Given the description of an element on the screen output the (x, y) to click on. 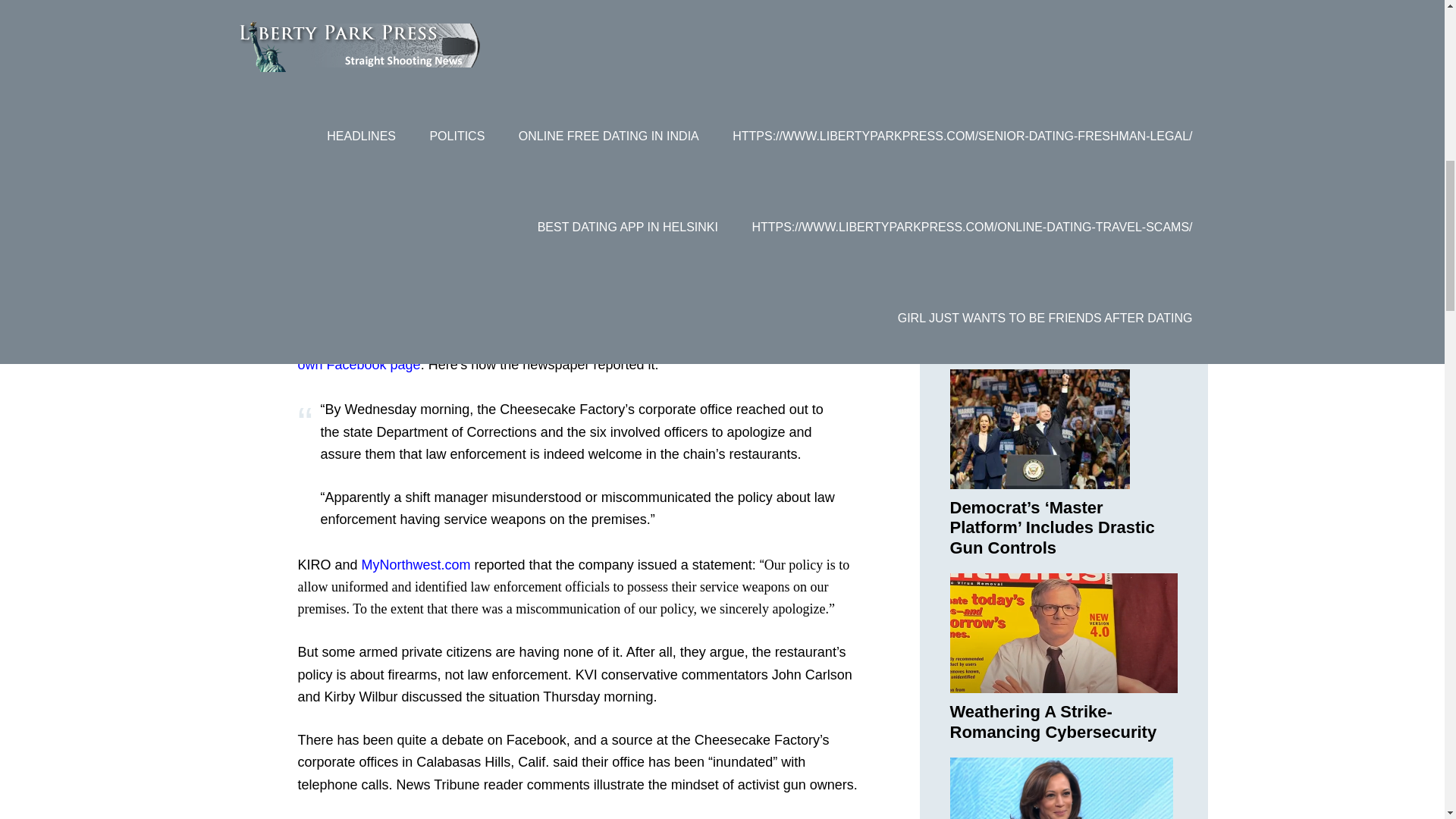
MyNorthwest.com (415, 564)
Biden Bids Farewell, Still Talks Gun Control (1048, 332)
its own Facebook page (569, 353)
How Harris and Walz Actually Plan to Attack Second Amendment (1039, 153)
Advertisement (576, 53)
Weathering A Strike- Romancing Cybersecurity (1052, 721)
